Given the description of an element on the screen output the (x, y) to click on. 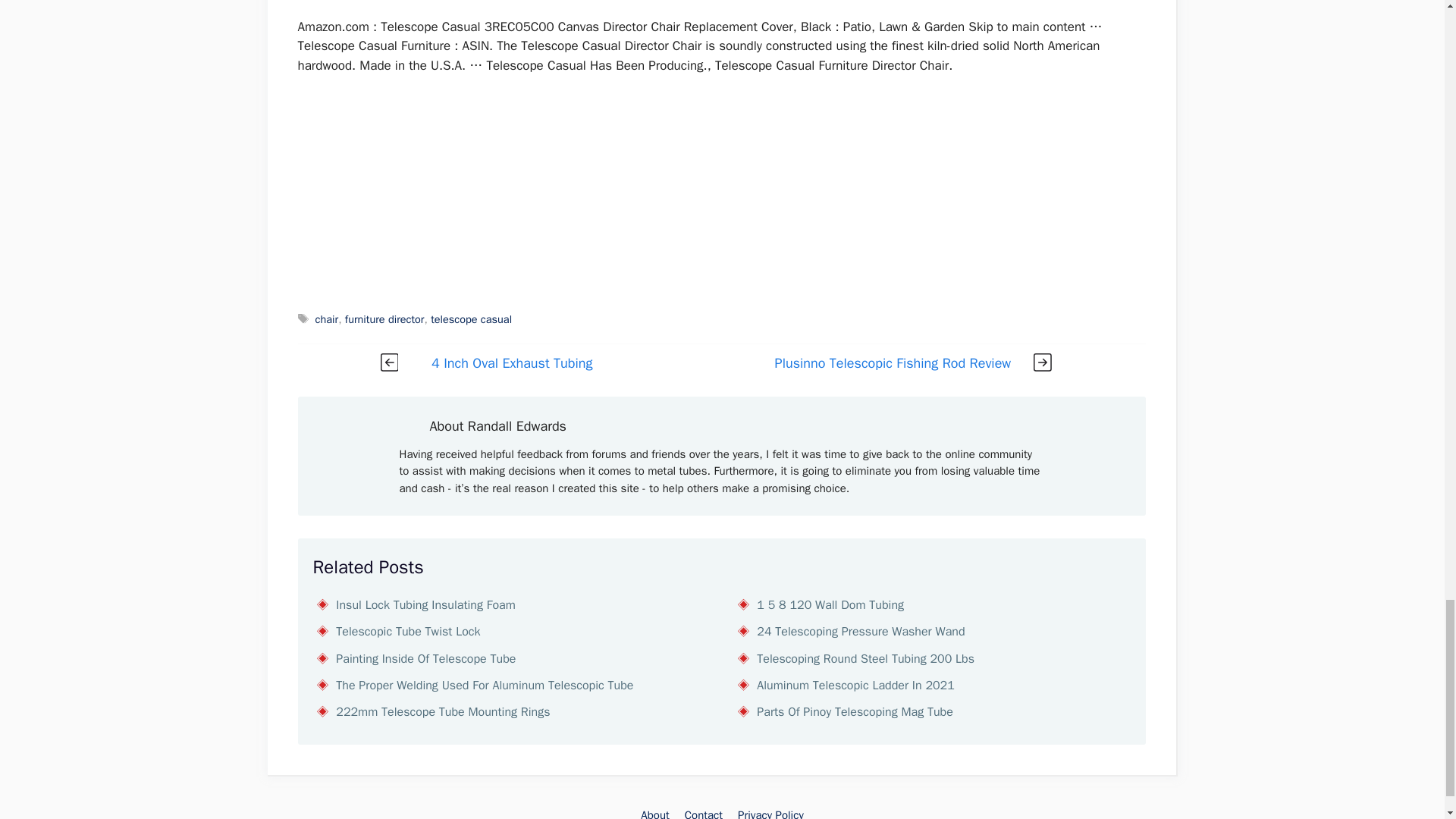
Insul Lock Tubing Insulating Foam (425, 604)
Painting Inside Of Telescope Tube (425, 658)
222mm Telescope Tube Mounting Rings (443, 711)
24 Telescoping Pressure Washer Wand (860, 631)
4 Inch Oval Exhaust Tubing (511, 362)
furniture director (385, 318)
1 5 8 120 Wall Dom Tubing (830, 604)
Telescopic Tube Twist Lock (408, 631)
telescope casual (471, 318)
Aluminum Telescopic Ladder In 2021 (855, 685)
